Given the description of an element on the screen output the (x, y) to click on. 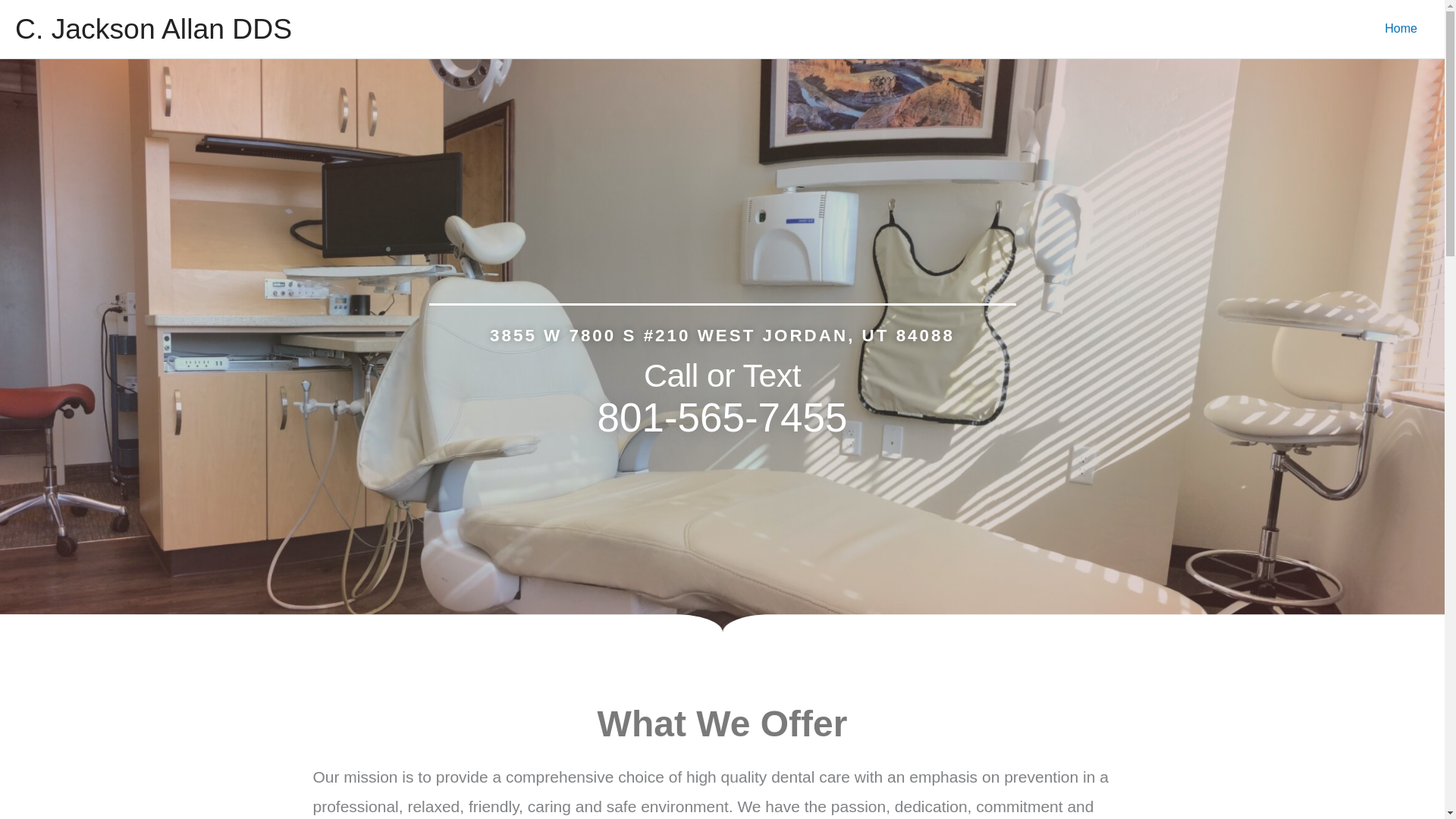
Home (1401, 29)
C. Jackson Allan DDS (153, 29)
